Given the description of an element on the screen output the (x, y) to click on. 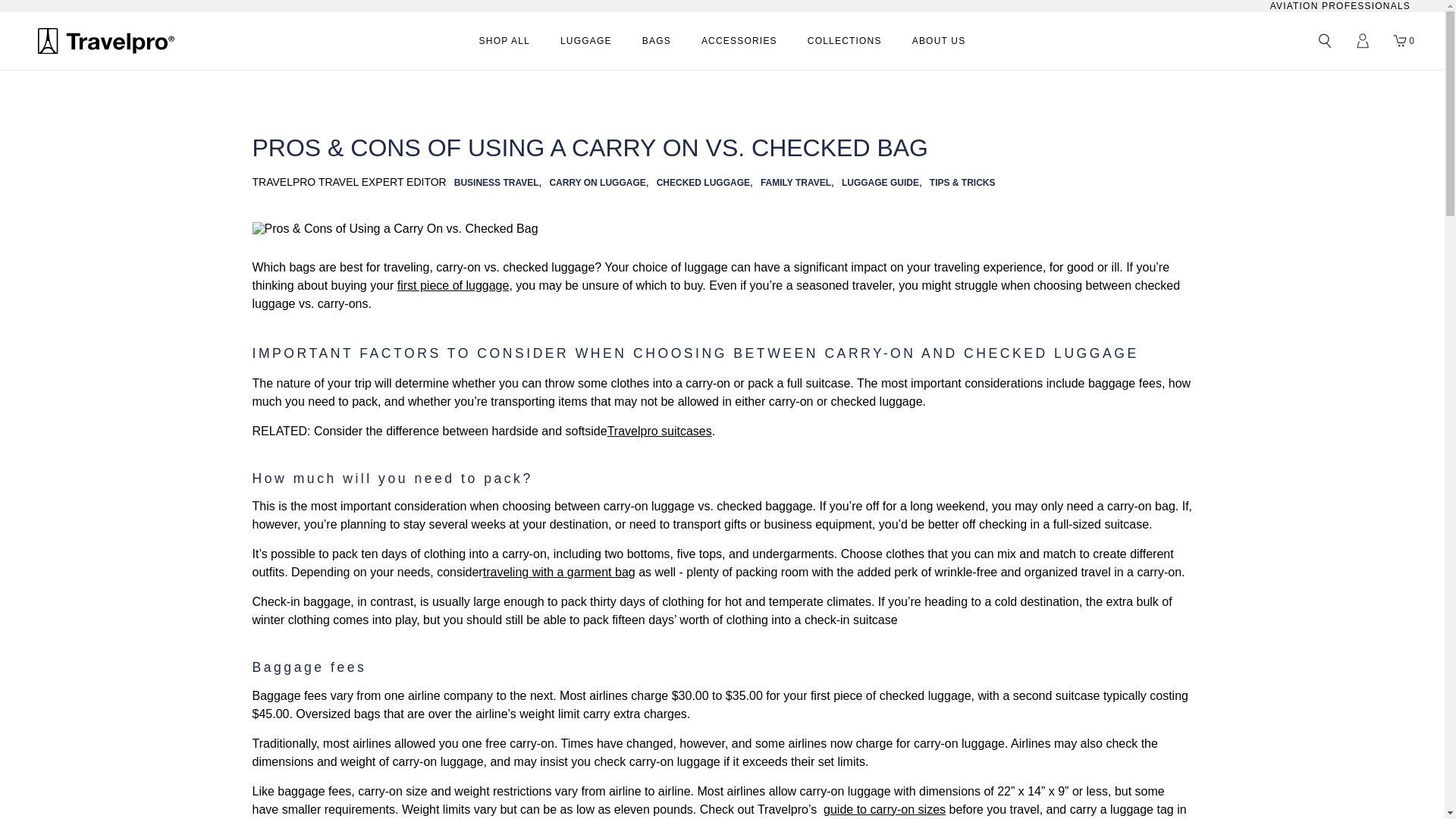
AVIATION PROFESSIONALS (1339, 5)
Travelpro (105, 40)
SHOP ALL (504, 40)
Best first piece of luggage (453, 285)
LUGGAGE (585, 40)
